Given the description of an element on the screen output the (x, y) to click on. 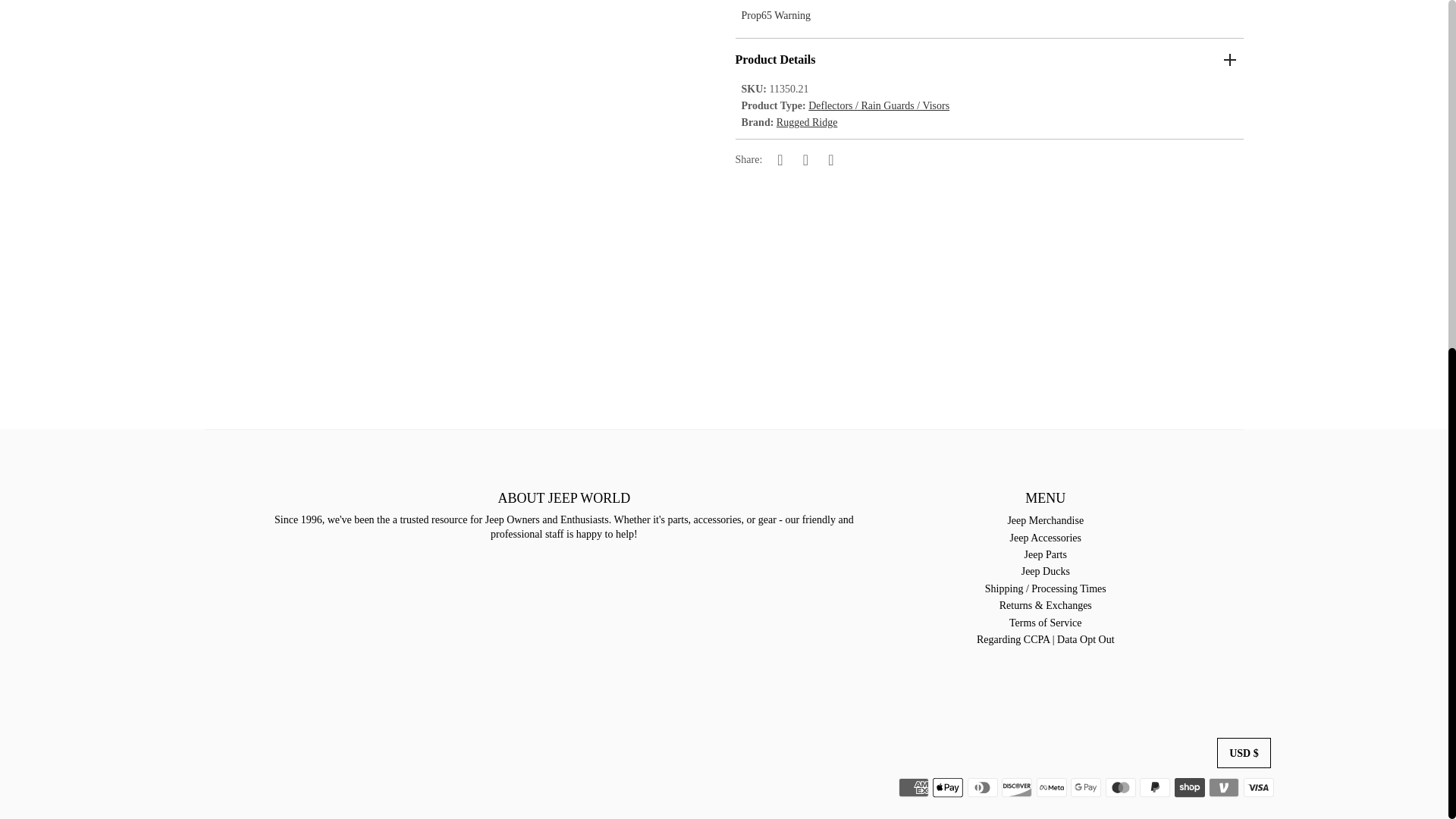
Visa (1258, 787)
Prop65 Warning (775, 15)
Discover (1016, 787)
Google Pay (1085, 787)
Rugged Ridge (807, 122)
Share on Pinterest (831, 159)
Diners Club (982, 787)
Rugged Ridge (807, 122)
Apple Pay (947, 787)
Mastercard (1120, 787)
American Express (913, 787)
Share on Facebook (780, 159)
Venmo (1223, 787)
PayPal (1155, 787)
Add to Cart (1220, 167)
